Given the description of an element on the screen output the (x, y) to click on. 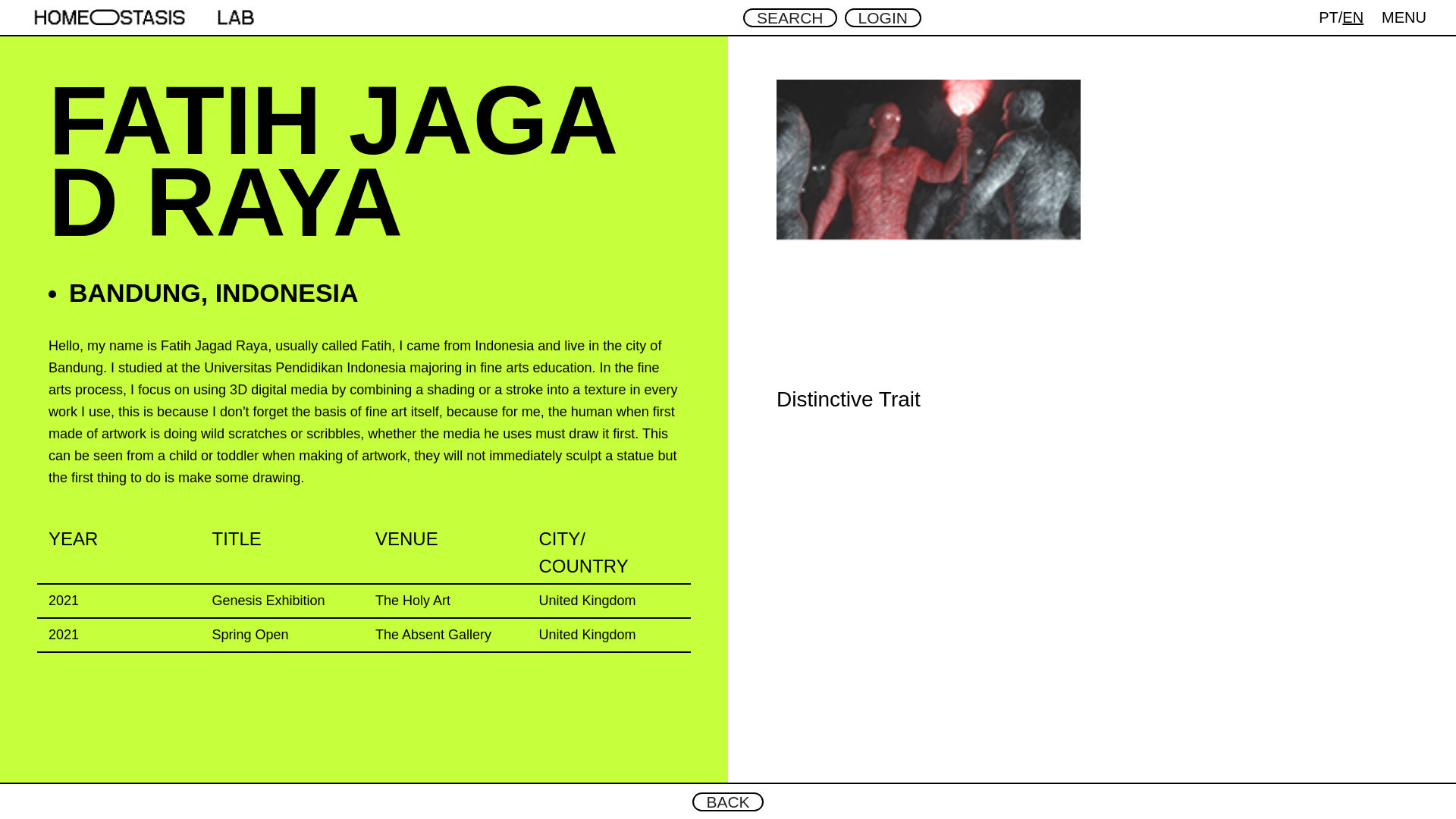
LOGIN (882, 16)
Distinctive Trait (928, 245)
EN (1352, 16)
SEARCH (789, 16)
BACK (727, 800)
MENU (1403, 16)
